Given the description of an element on the screen output the (x, y) to click on. 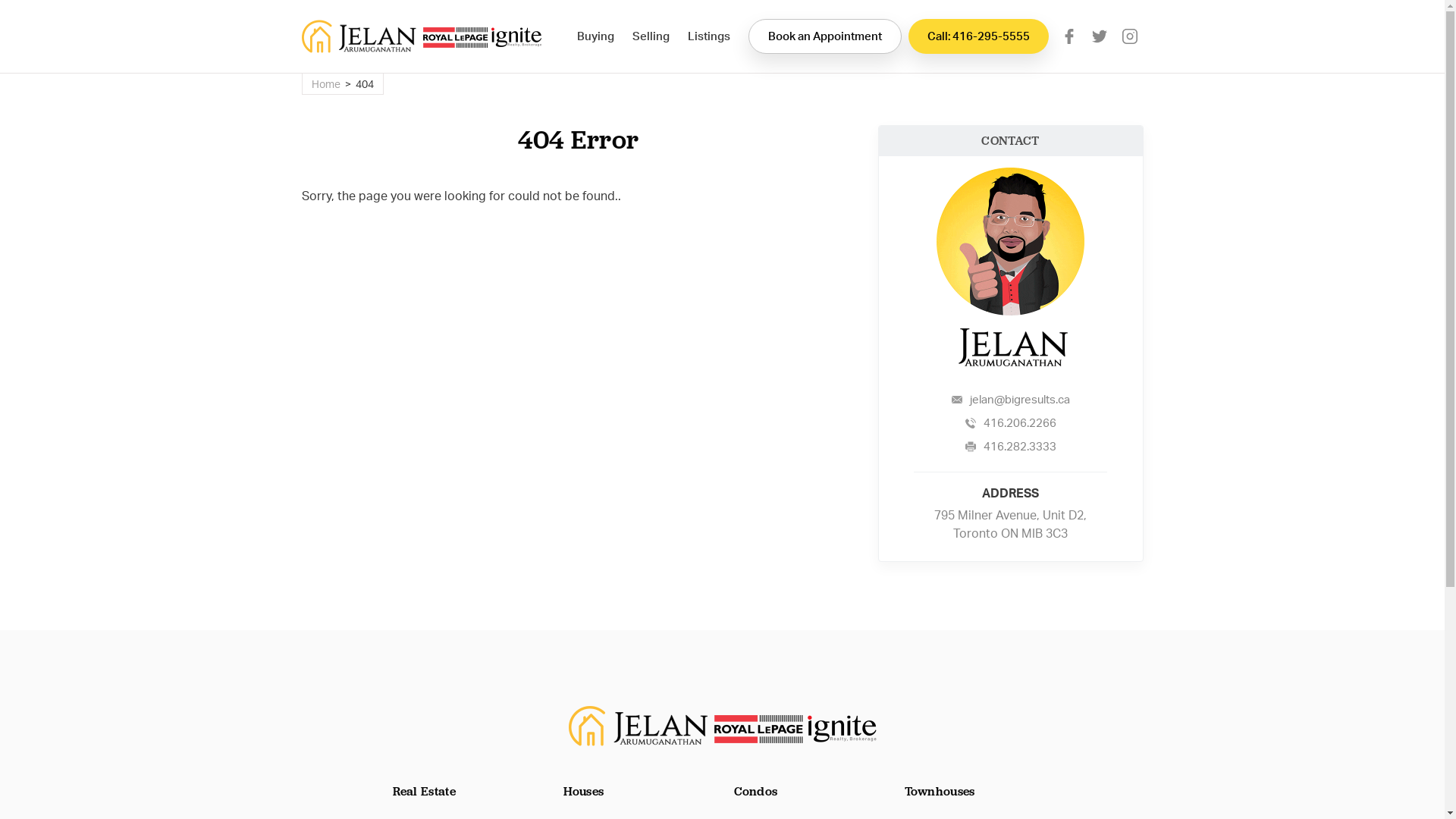
Instagram Element type: text (1129, 35)
Listings Element type: text (708, 35)
Call: 416-295-5555 Element type: text (978, 35)
Selling Element type: text (650, 35)
Book an Appointment Element type: text (823, 35)
Buying Element type: text (594, 35)
Twitter Element type: text (1099, 35)
Facebook Element type: text (1068, 35)
Home Element type: text (324, 83)
